Given the description of an element on the screen output the (x, y) to click on. 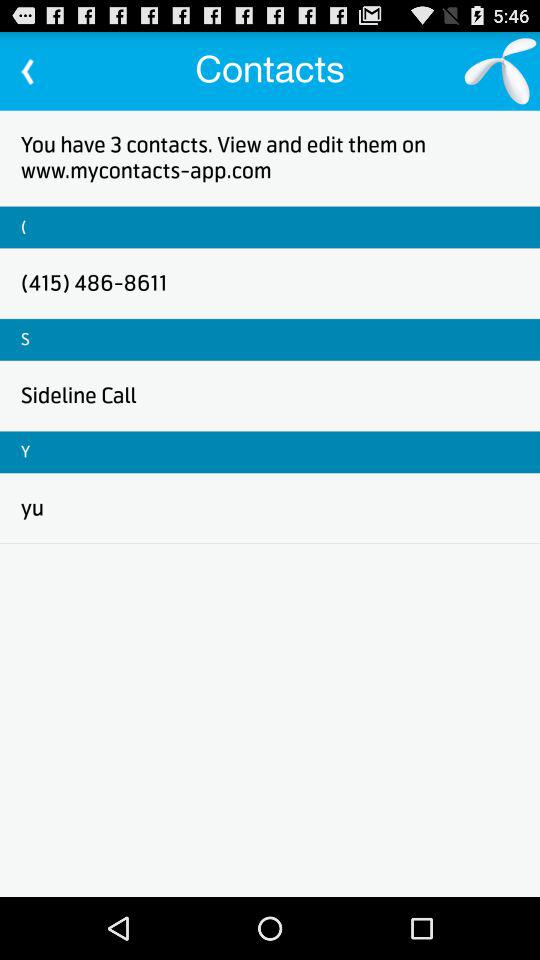
turn on sideline call icon (78, 395)
